Given the description of an element on the screen output the (x, y) to click on. 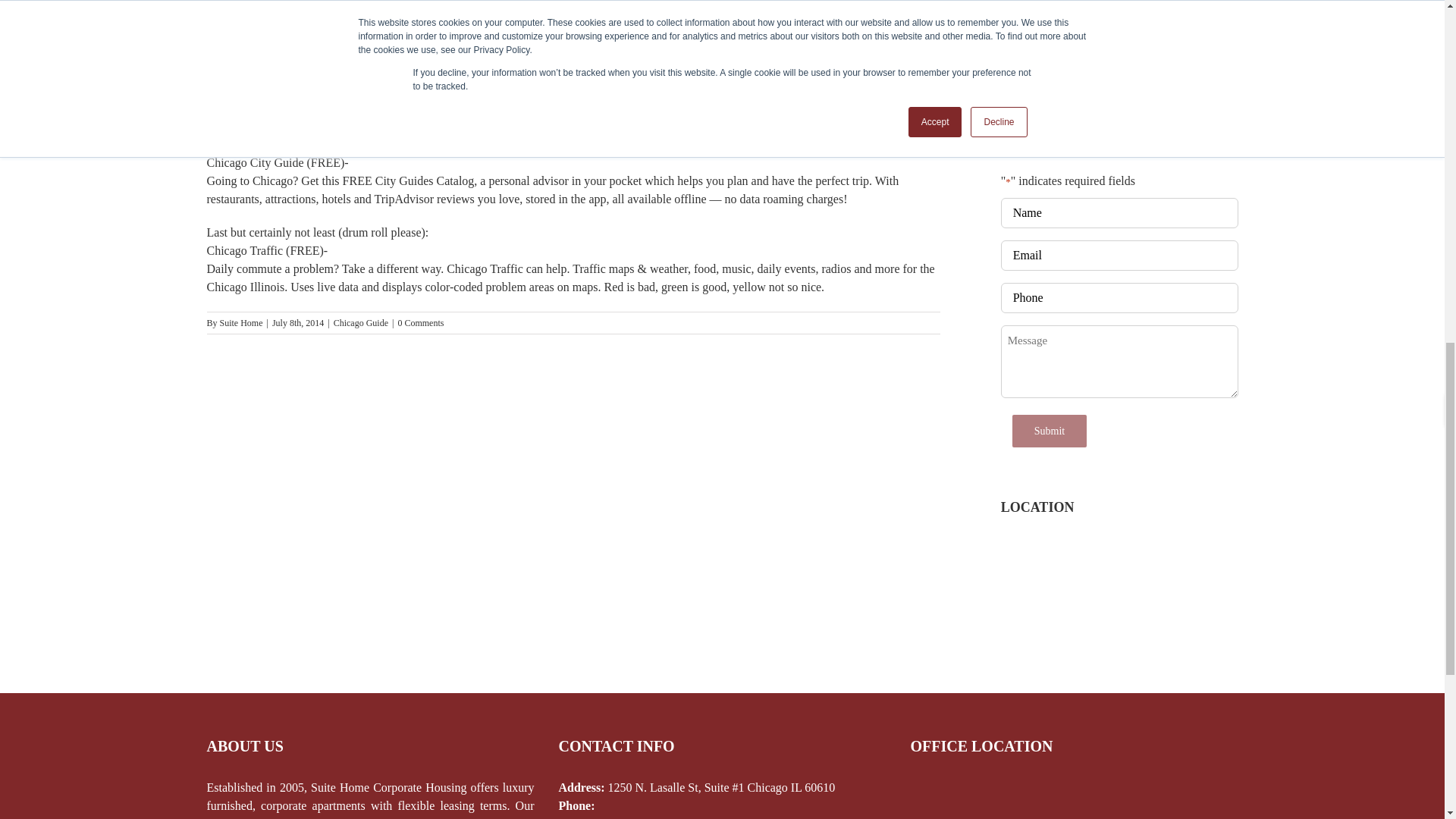
Posts by Suite Home (241, 322)
Chicago Guide (360, 322)
0 Comments (420, 322)
Submit (1048, 430)
Suite Home (241, 322)
